Given the description of an element on the screen output the (x, y) to click on. 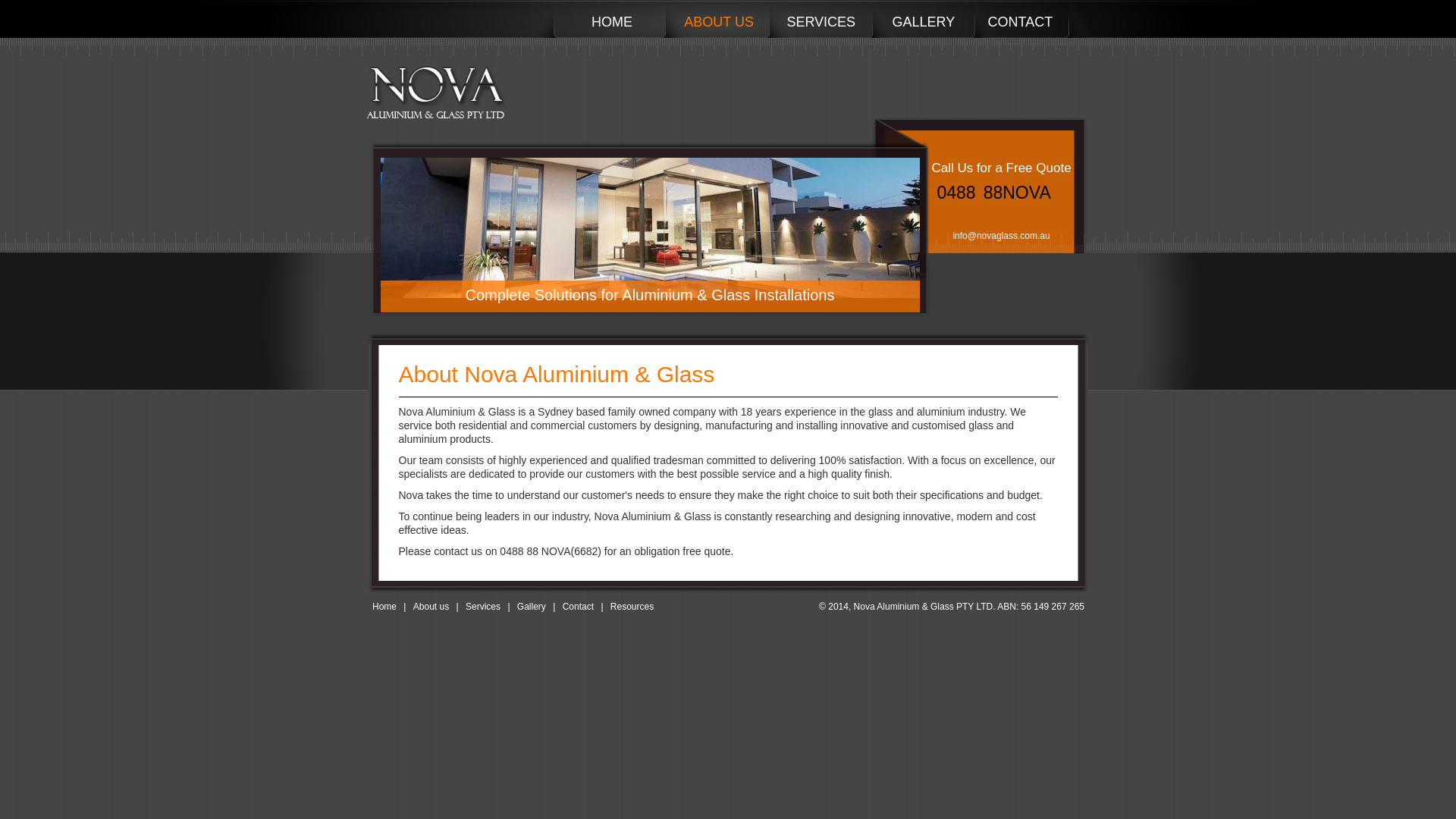
Gallery Element type: text (531, 606)
Resources Element type: text (631, 606)
ABOUT US Element type: text (718, 21)
Home Element type: text (384, 606)
Services Element type: text (482, 606)
Nova Aluminium & Glass Element type: text (434, 94)
info@novaglass.com.au Element type: text (1000, 235)
SERVICES Element type: text (820, 21)
HOME Element type: text (611, 21)
CONTACT Element type: text (1019, 21)
About us Element type: text (430, 606)
Contact Element type: text (577, 606)
GALLERY Element type: text (923, 21)
